Given the description of an element on the screen output the (x, y) to click on. 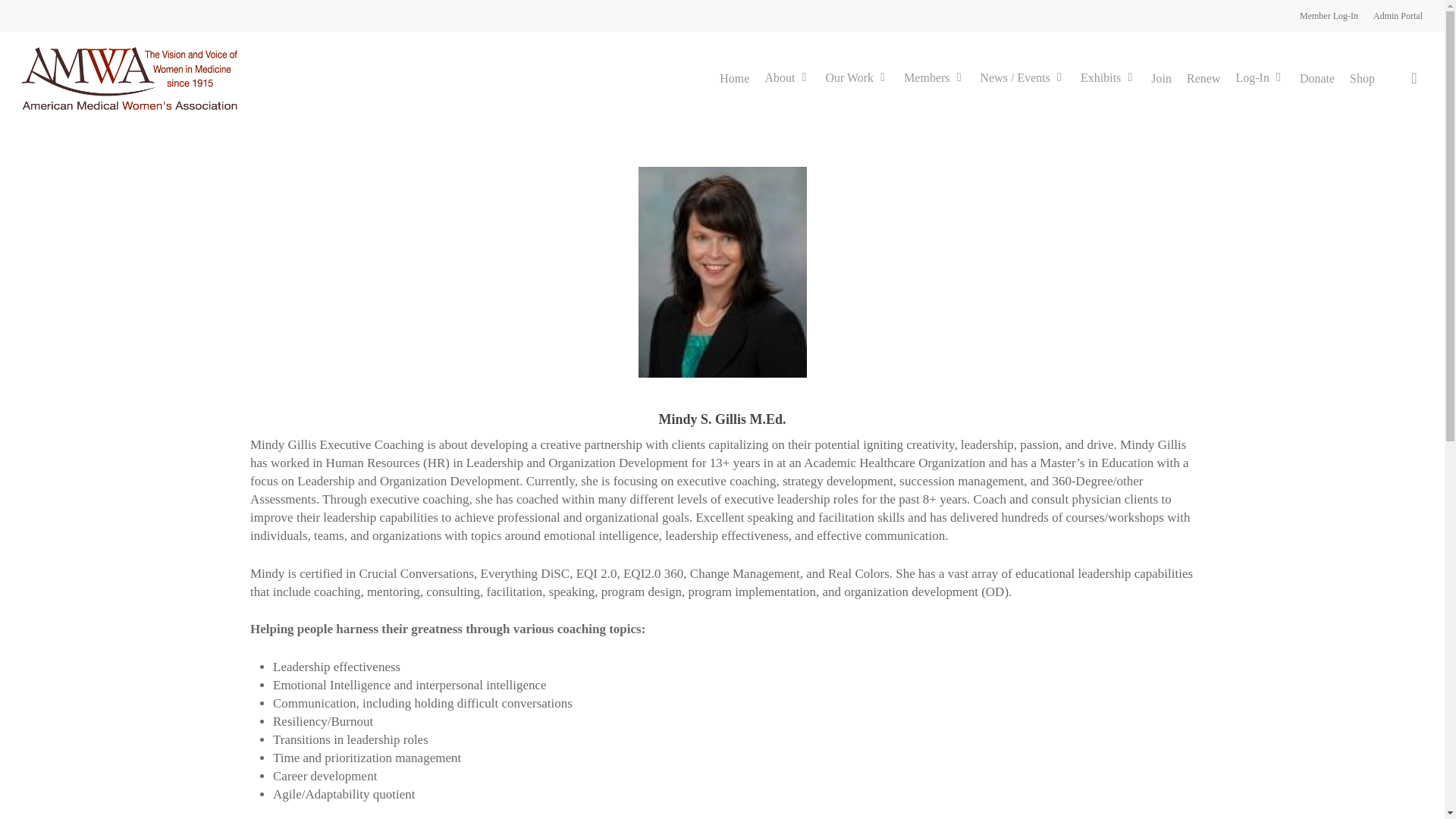
Member Log-In (1329, 15)
Admin Portal (1397, 15)
About (786, 78)
Home (734, 78)
Our Work (856, 78)
